Given the description of an element on the screen output the (x, y) to click on. 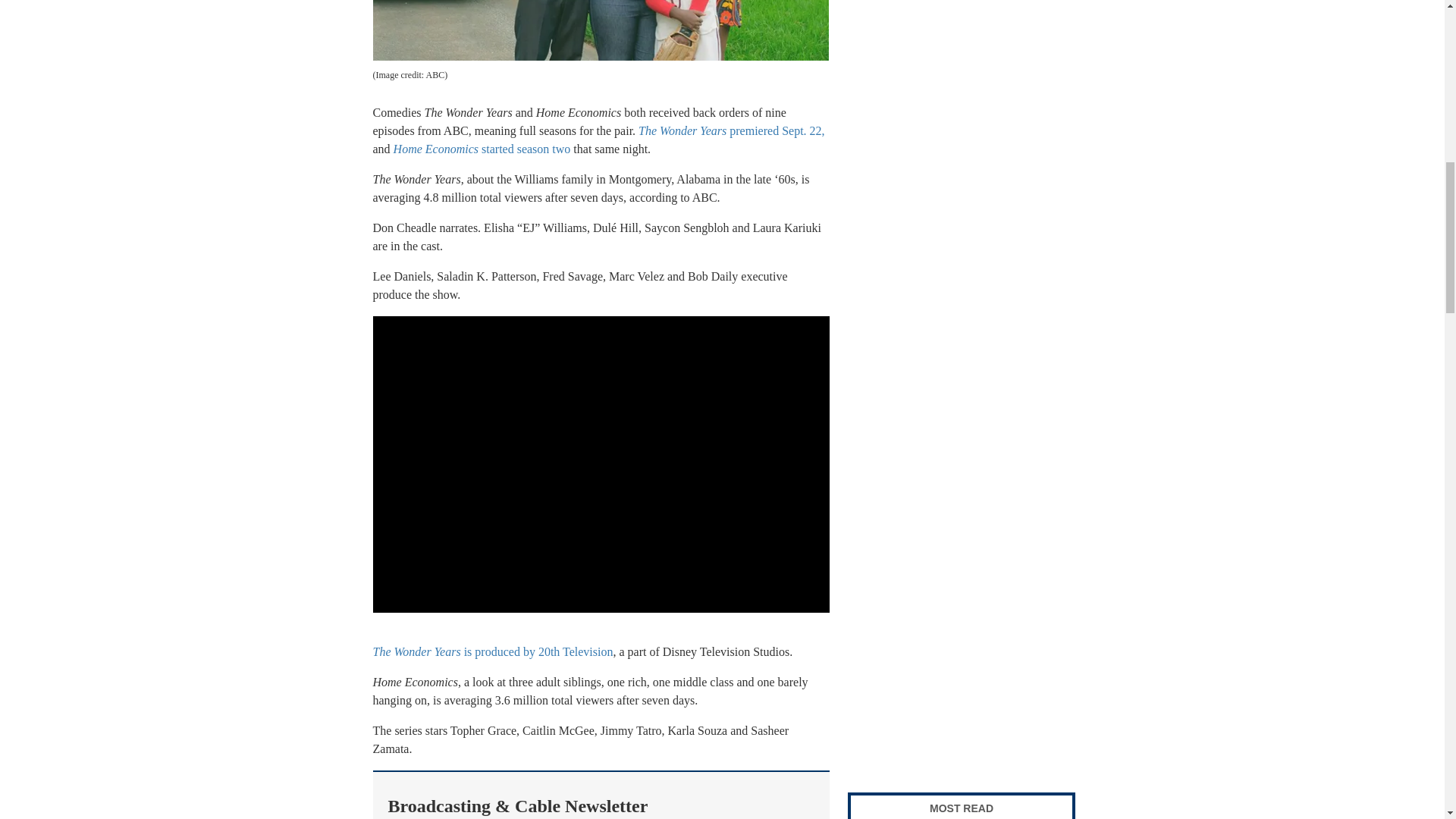
Home Economics started season two (481, 148)
The Wonder Years is produced by 20th Television (492, 651)
The Wonder Years premiered Sept. 22, (731, 130)
